Given the description of an element on the screen output the (x, y) to click on. 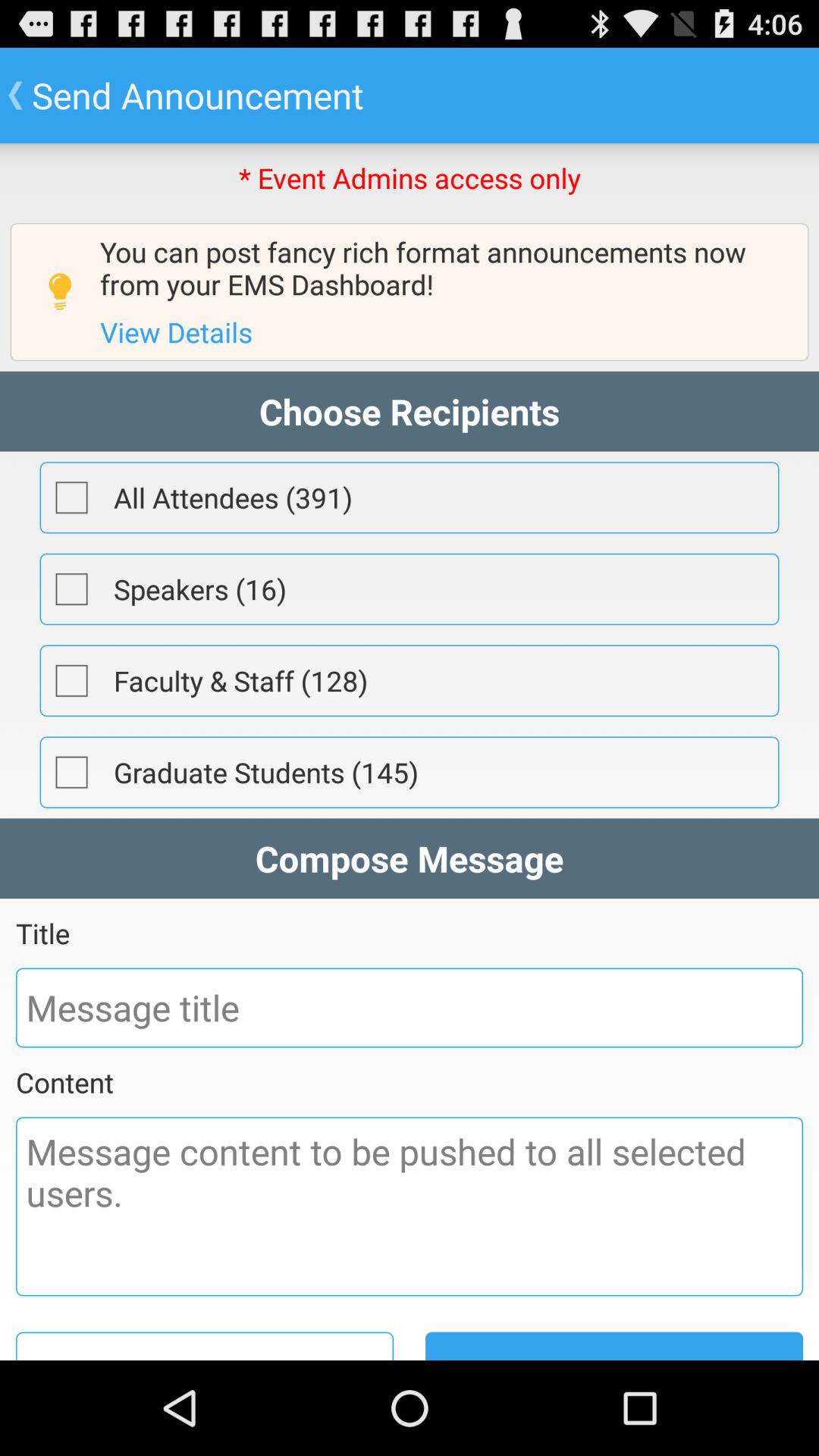
launch app next to send (204, 1346)
